Given the description of an element on the screen output the (x, y) to click on. 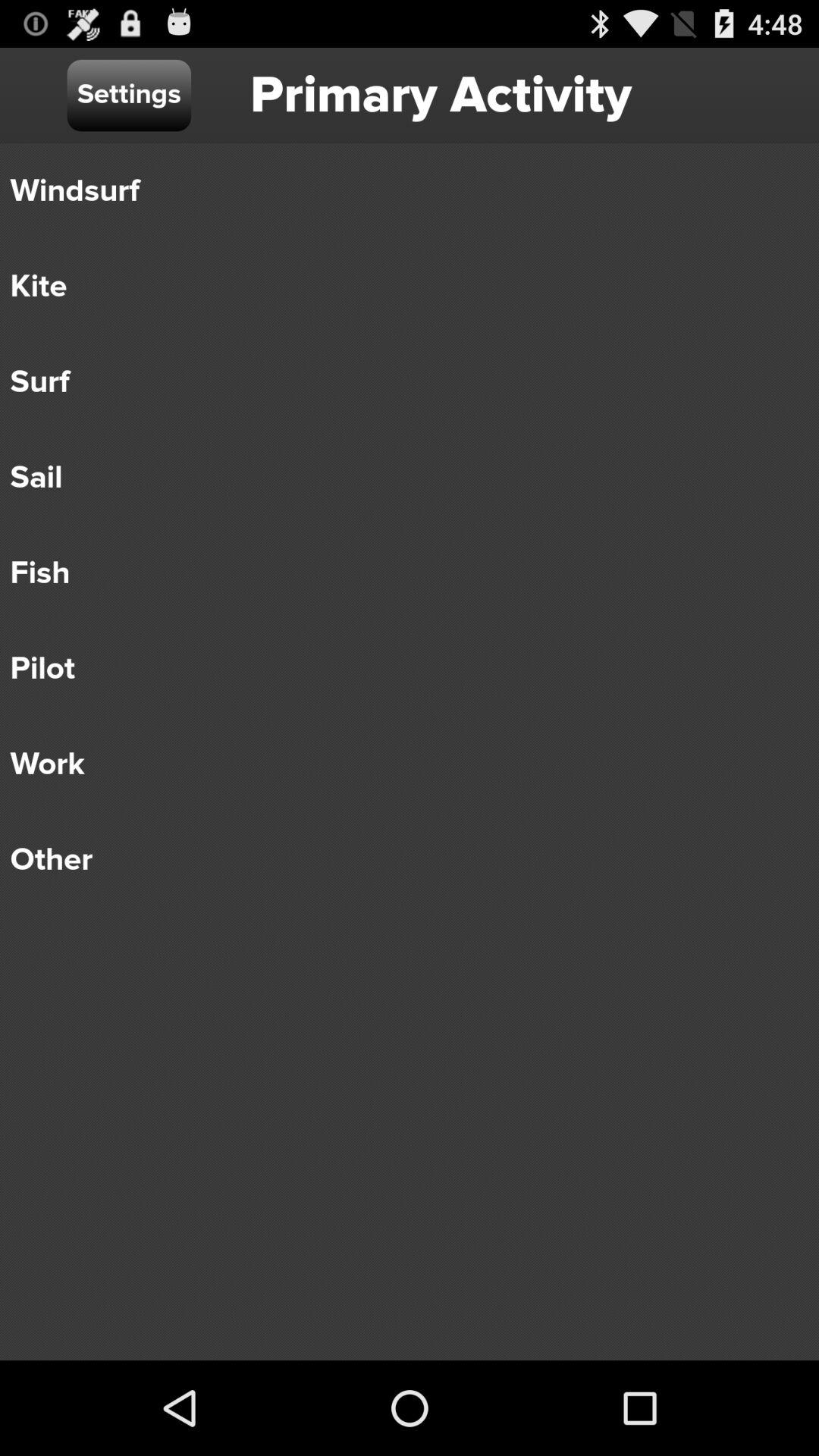
press the icon above the sail (399, 381)
